Given the description of an element on the screen output the (x, y) to click on. 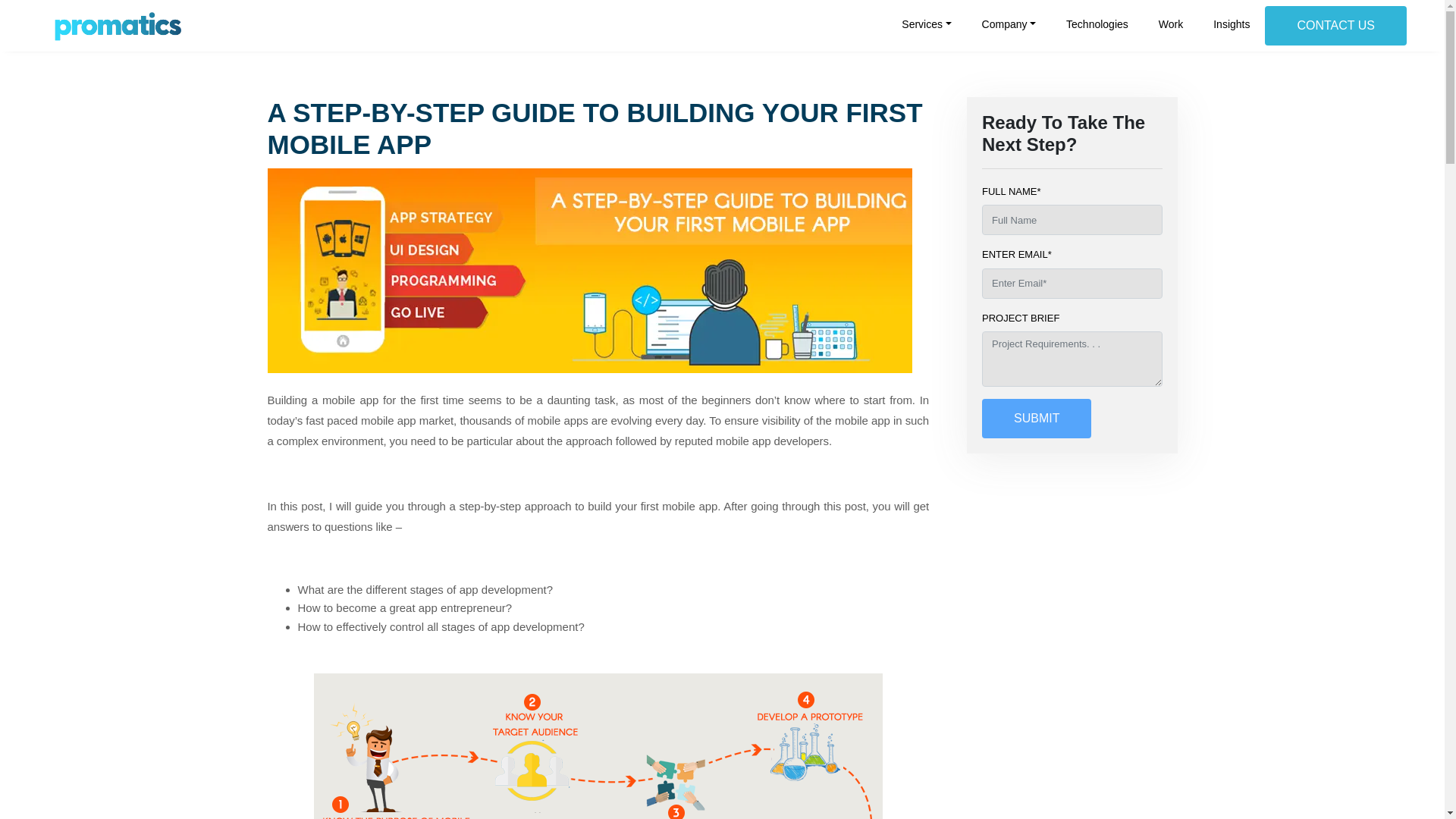
CONTACT US (1335, 25)
Technologies (1096, 18)
Company (1008, 18)
Services (926, 18)
Insights (1231, 18)
Work (1170, 18)
